Given the description of an element on the screen output the (x, y) to click on. 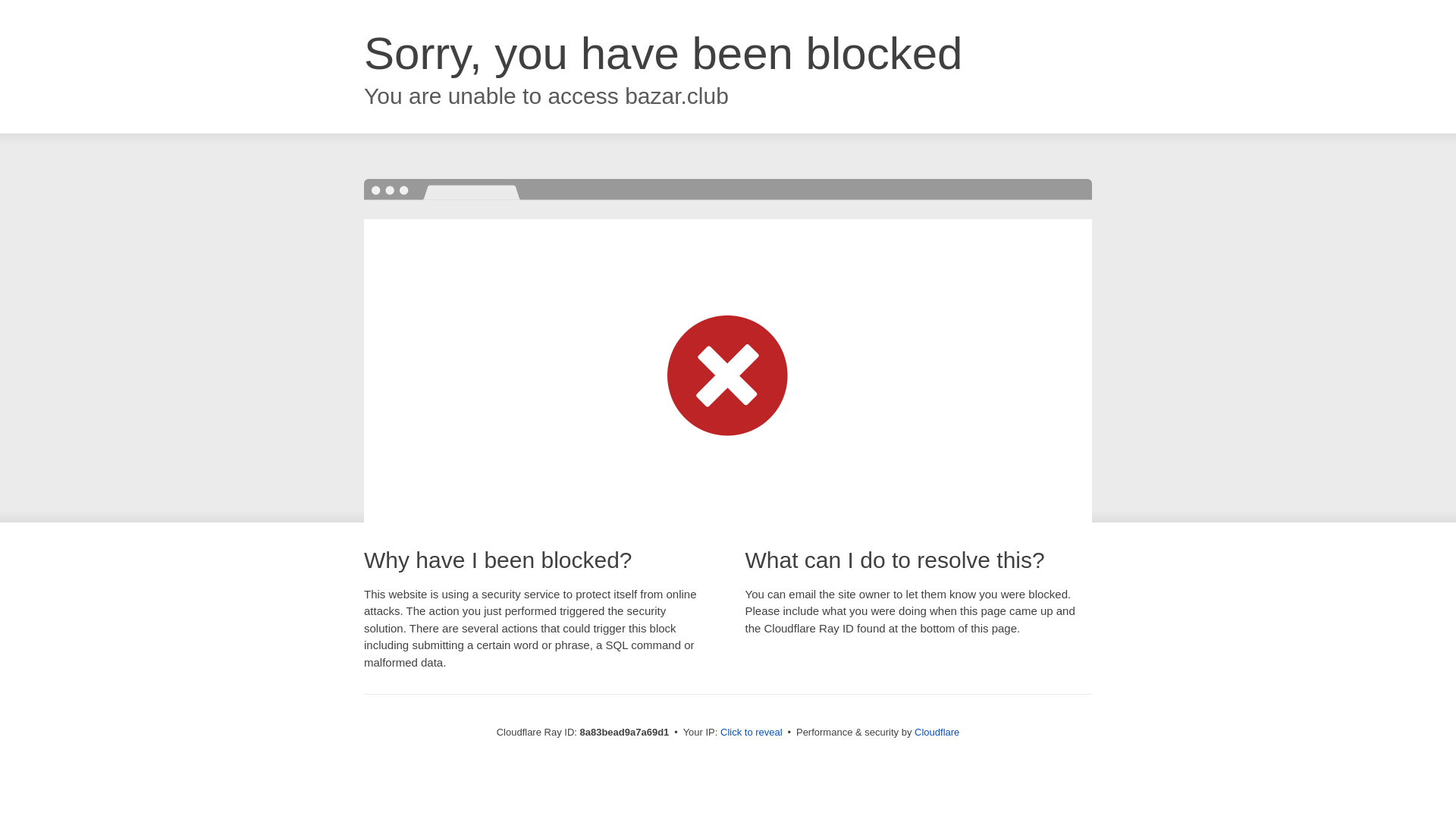
Click to reveal (751, 732)
Cloudflare (936, 731)
